Given the description of an element on the screen output the (x, y) to click on. 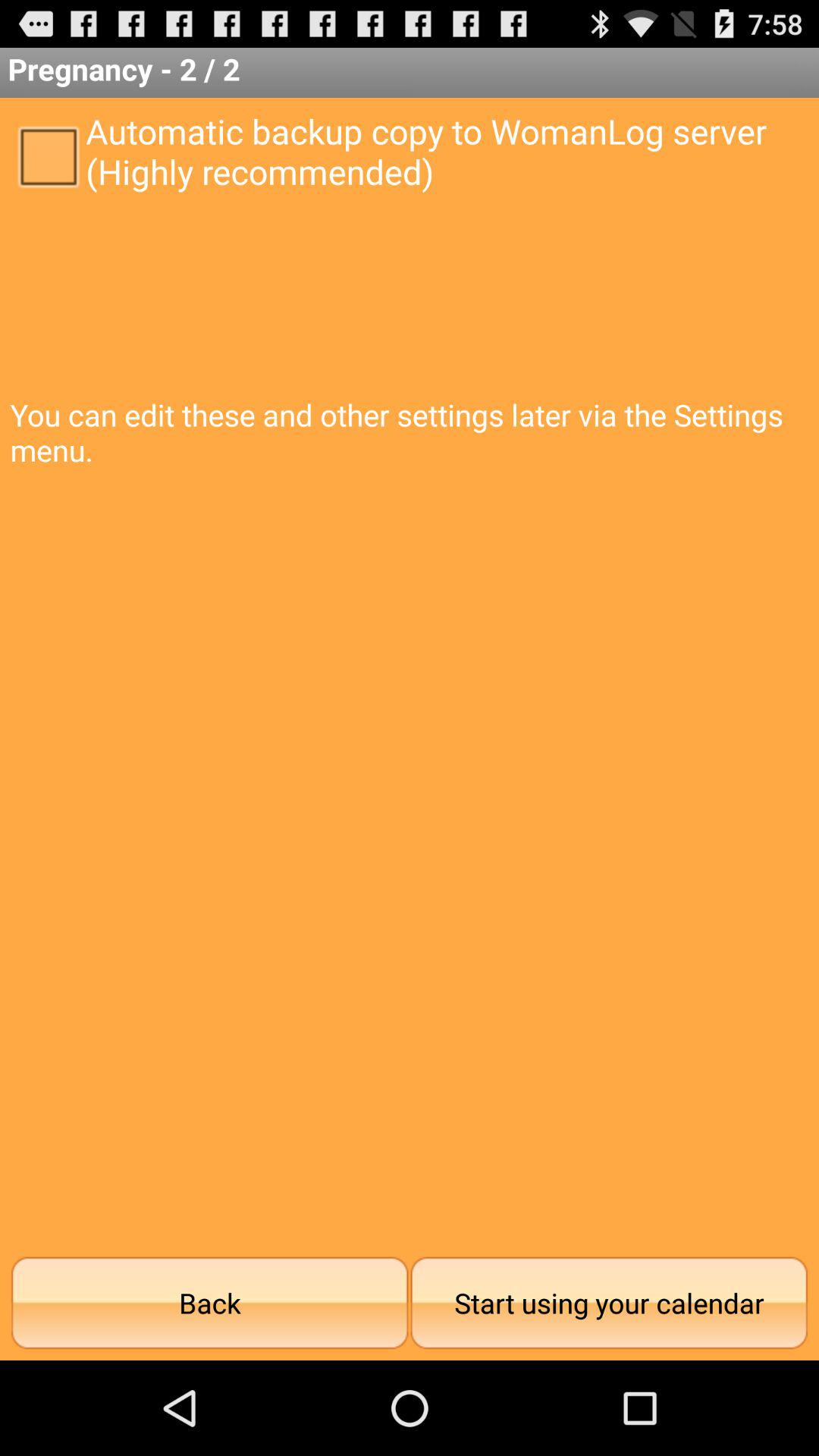
swipe to start using your icon (608, 1302)
